Given the description of an element on the screen output the (x, y) to click on. 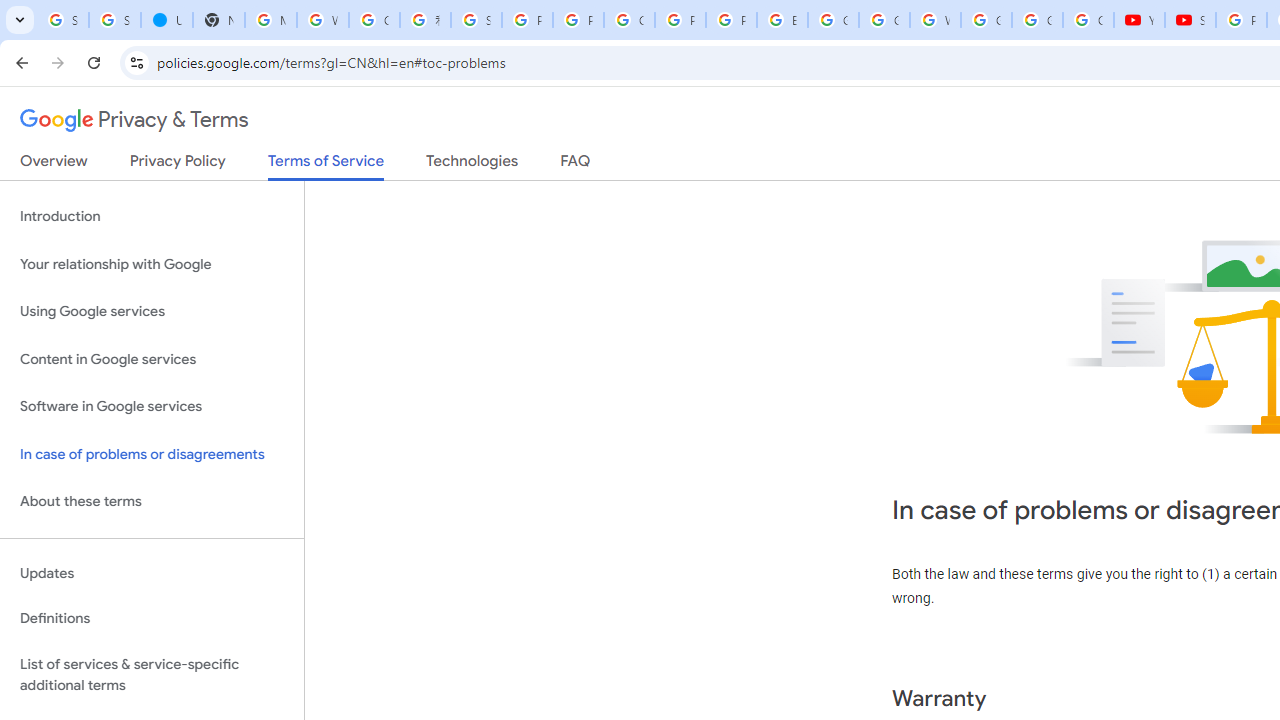
YouTube (1138, 20)
Welcome to My Activity (935, 20)
Definitions (152, 619)
Google Account (1037, 20)
Content in Google services (152, 358)
